Given the description of an element on the screen output the (x, y) to click on. 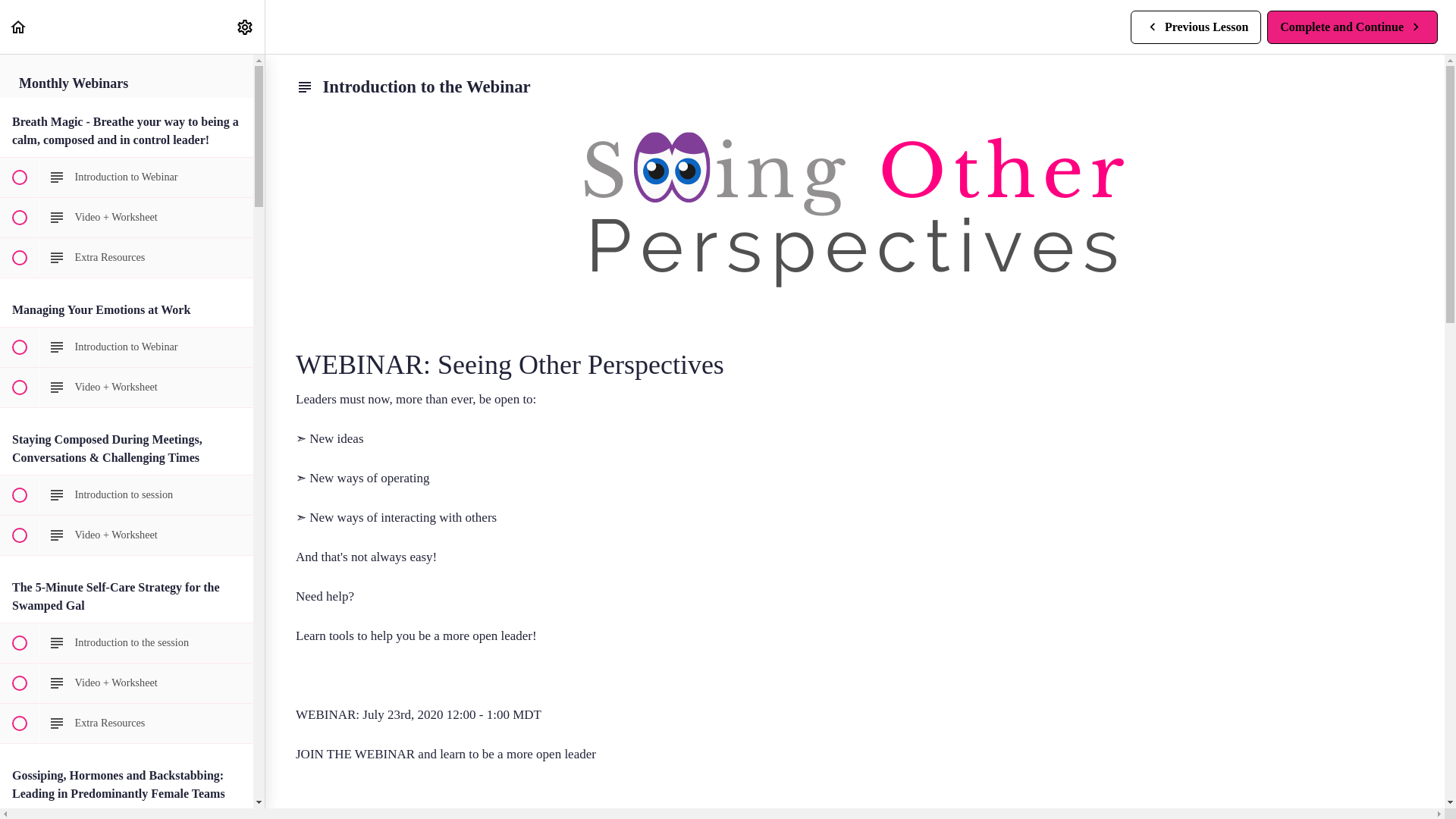
  Extra Resources (126, 257)
  Introduction to Webinar (1352, 27)
Settings Menu (126, 346)
  Previous Lesson (244, 27)
Back to course curriculum (1195, 27)
  Introduction to Webinar (17, 27)
  Introduction to the session (126, 177)
  Extra Resources (126, 642)
  Introduction to session (126, 722)
